Given the description of an element on the screen output the (x, y) to click on. 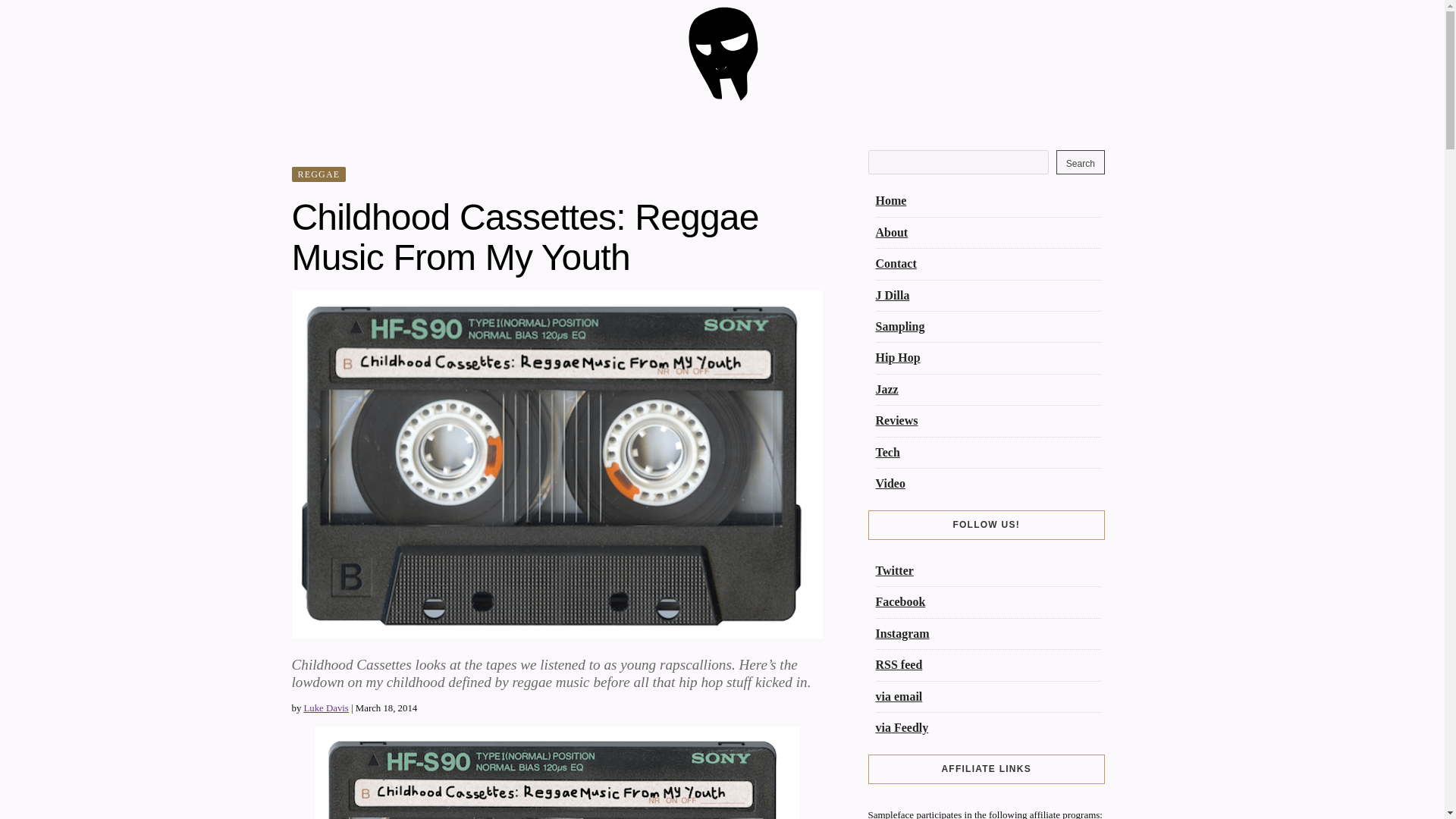
Contact (895, 263)
Video (889, 482)
via email (898, 696)
Tech (887, 451)
RSS feed (898, 664)
via Feedly (901, 727)
Twitter (893, 570)
REGGAE (318, 174)
Jazz (886, 389)
Luke Davis (324, 707)
Sampling (899, 326)
Home (890, 200)
Sampleface logo A black mask. (722, 97)
Instagram (901, 633)
Facebook (899, 601)
